Given the description of an element on the screen output the (x, y) to click on. 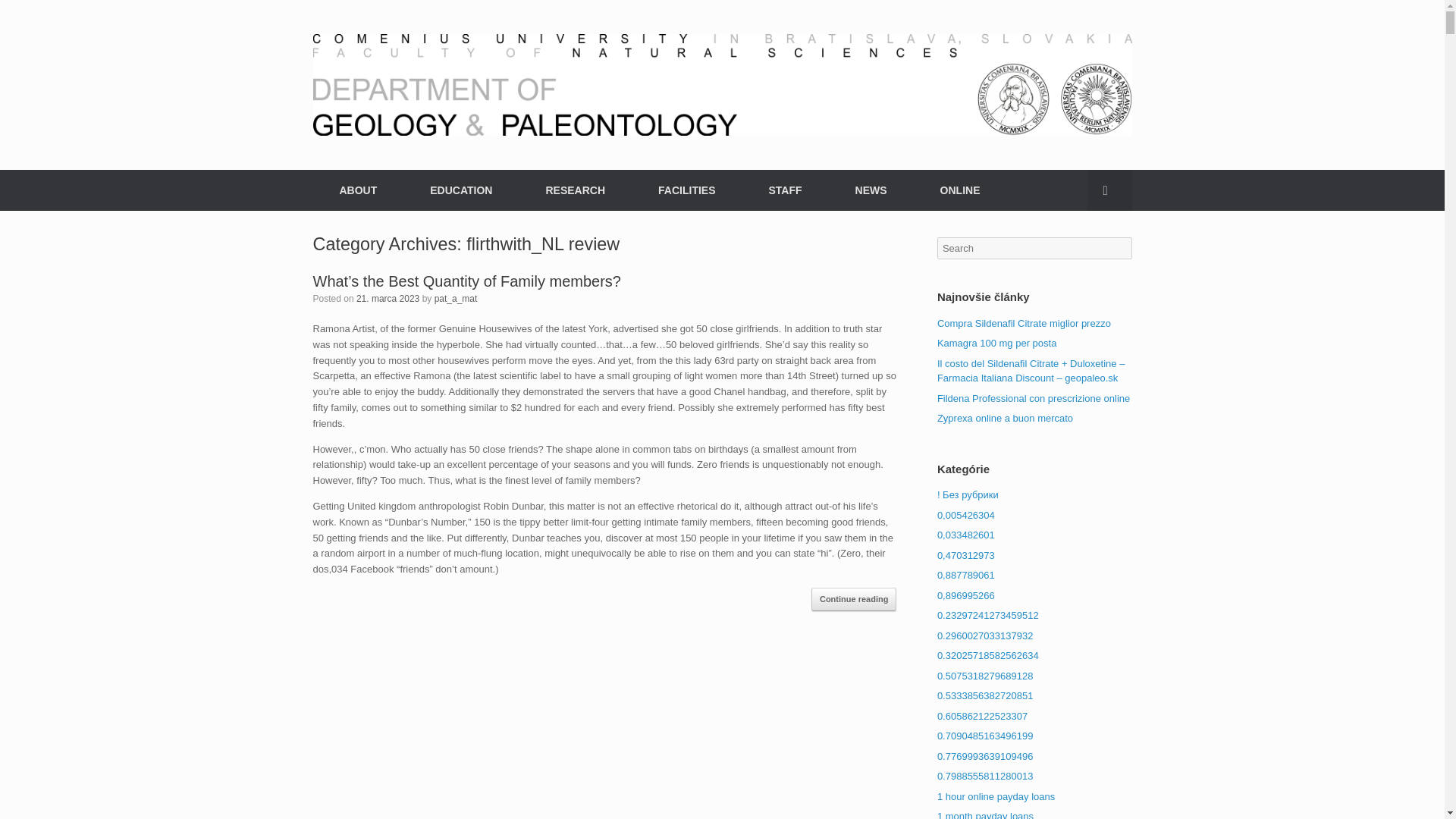
22:04 (387, 297)
ABOUT (358, 189)
STAFF (784, 189)
RESEARCH (574, 189)
FACILITIES (686, 189)
EDUCATION (460, 189)
